Given the description of an element on the screen output the (x, y) to click on. 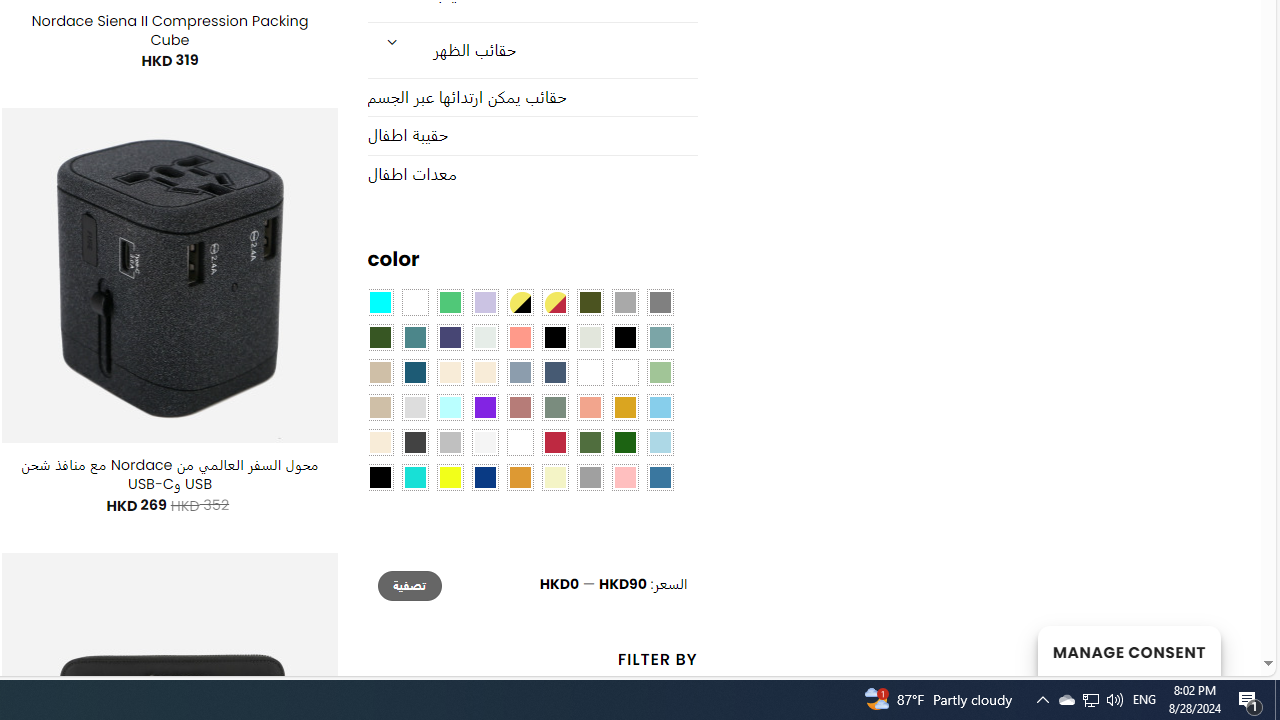
MANAGE CONSENT (1128, 650)
Teal (414, 337)
Black-Brown (624, 337)
Light Taupe (379, 408)
Khaki (624, 372)
Dull Nickle (484, 337)
